Given the description of an element on the screen output the (x, y) to click on. 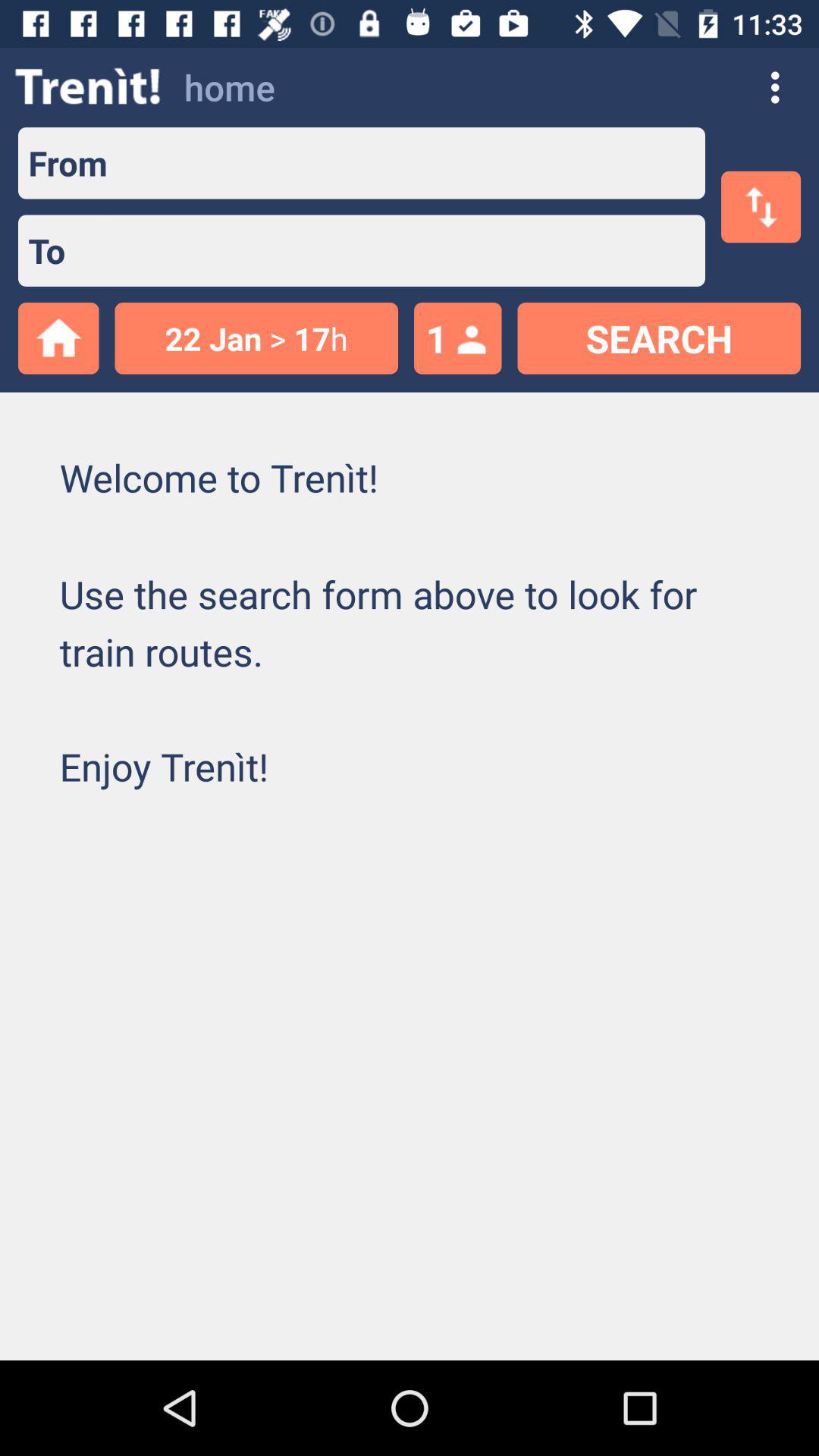
open item next to 1 item (256, 338)
